Given the description of an element on the screen output the (x, y) to click on. 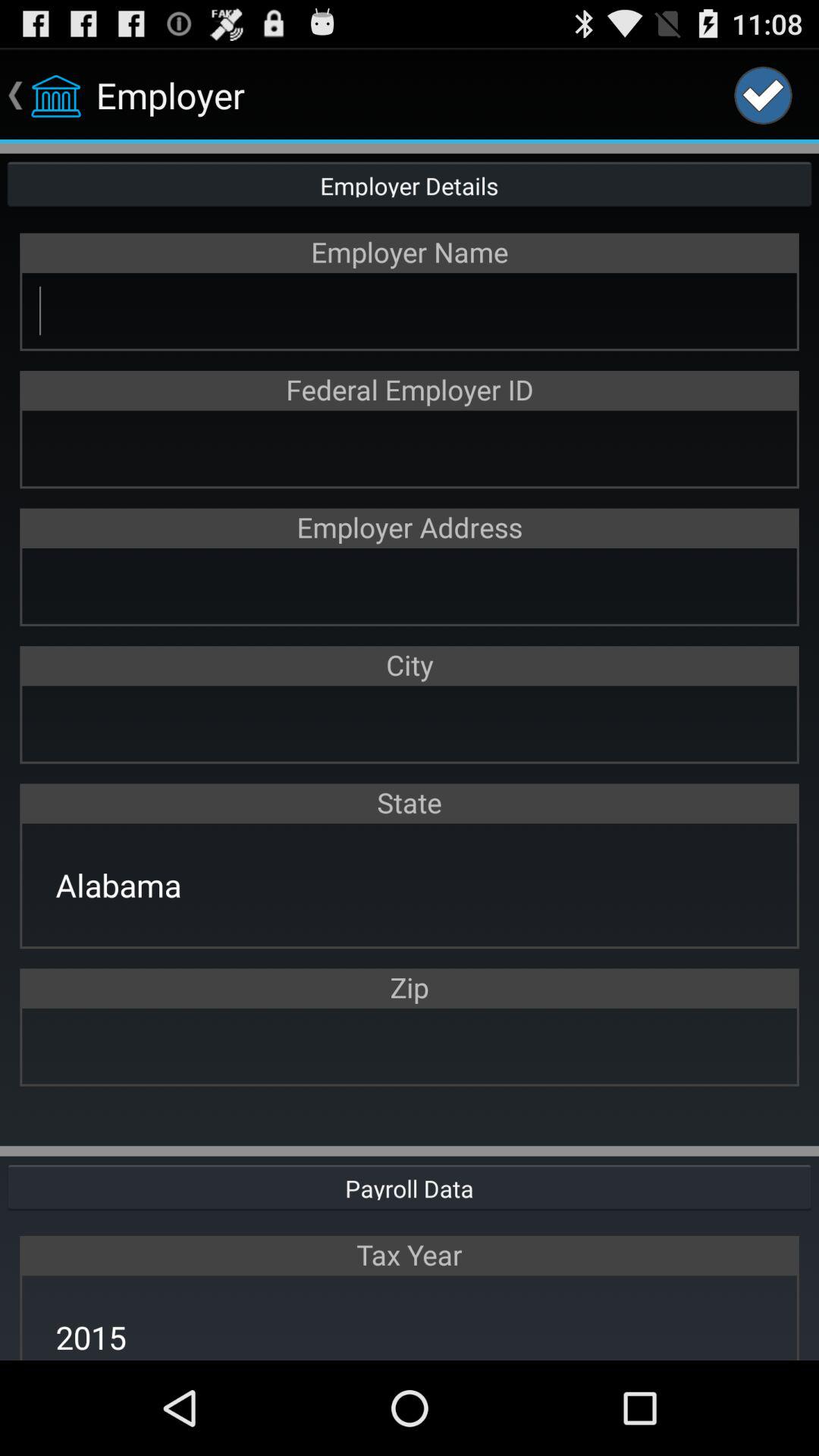
jump to payroll data icon (409, 1185)
